Given the description of an element on the screen output the (x, y) to click on. 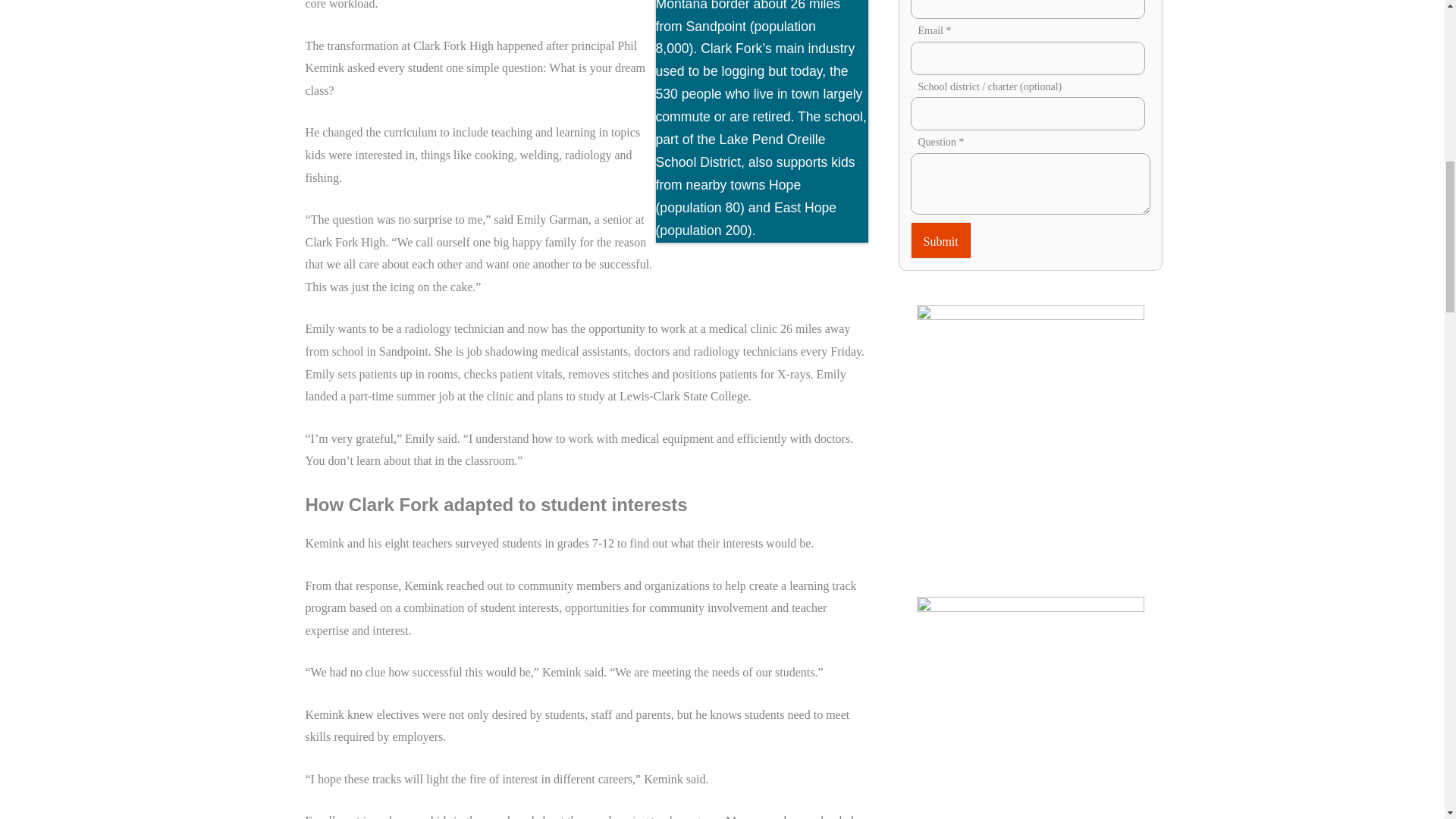
Submit (940, 239)
